Given the description of an element on the screen output the (x, y) to click on. 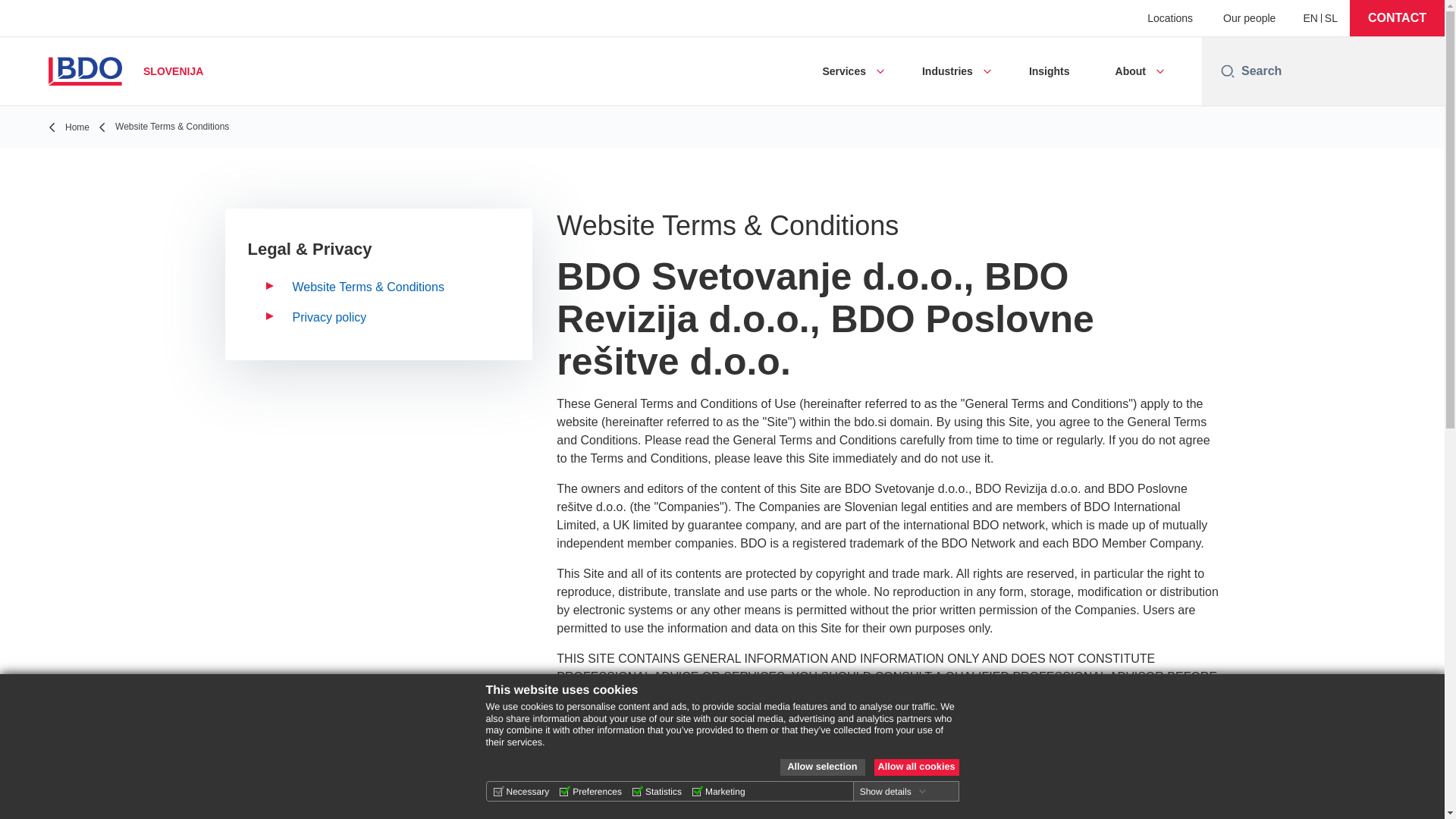
Show details (893, 791)
Services (844, 71)
Locations (1169, 18)
Allow selection (821, 767)
SL (1331, 17)
SLOVENIJA (116, 70)
Allow all cookies (915, 767)
Our people (1249, 18)
EN (1310, 17)
